Given the description of an element on the screen output the (x, y) to click on. 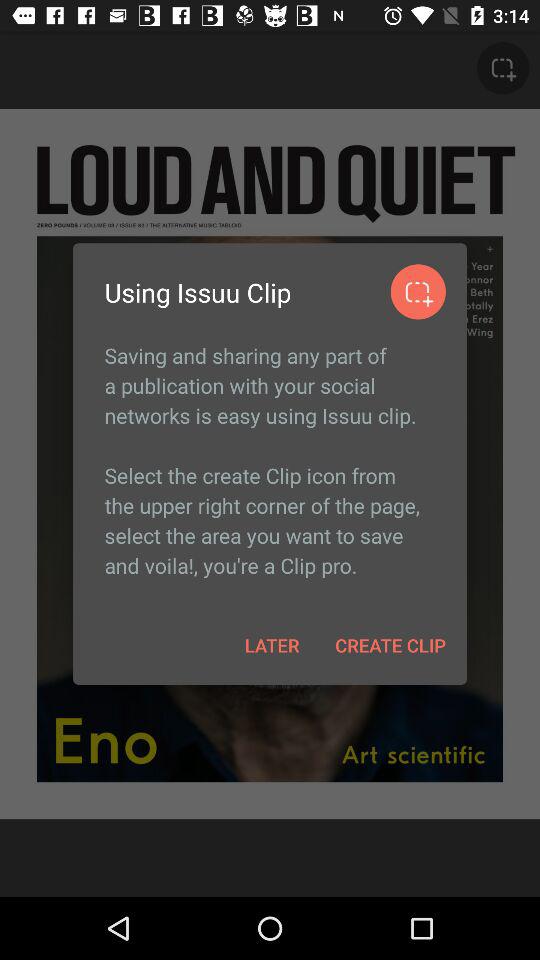
press the icon at the bottom (272, 644)
